Given the description of an element on the screen output the (x, y) to click on. 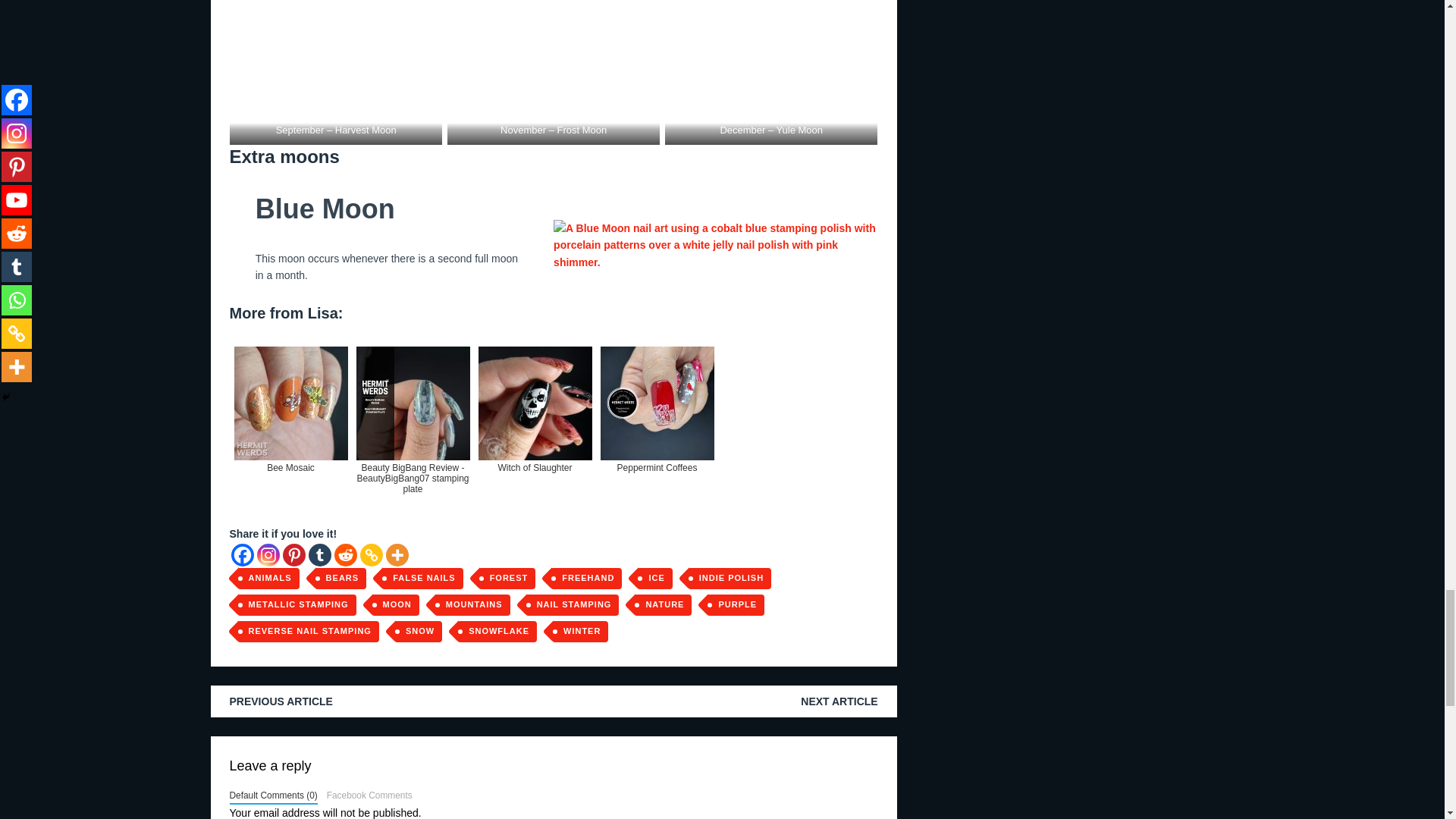
Facebook (241, 554)
Instagram (267, 554)
Reddit (344, 554)
Pinterest (293, 554)
Tumblr (318, 554)
More (396, 554)
Copy Link (370, 554)
